Given the description of an element on the screen output the (x, y) to click on. 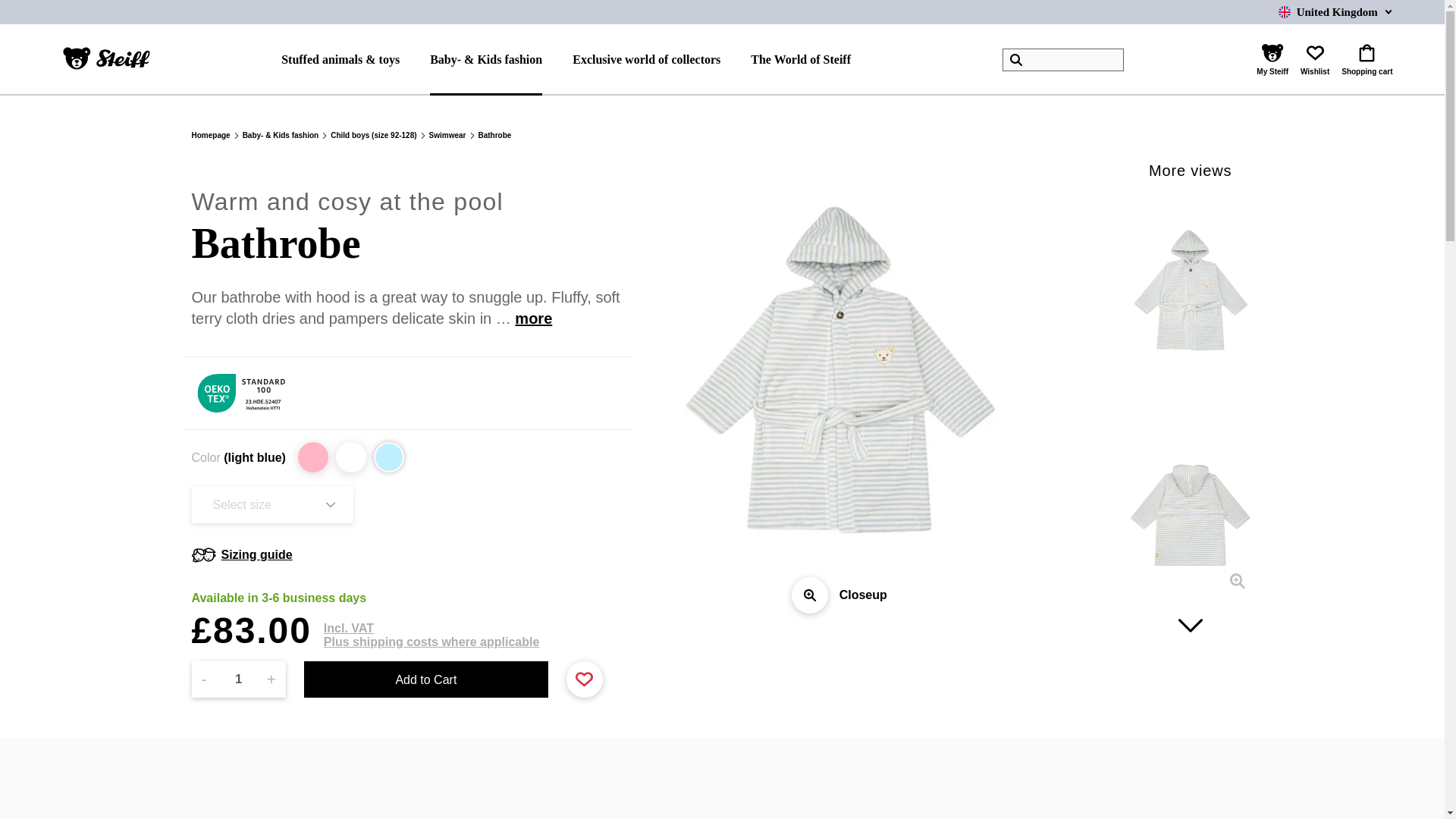
white (351, 457)
1 (237, 678)
light blue (389, 457)
Add to favorite (583, 678)
rose (313, 457)
